Given the description of an element on the screen output the (x, y) to click on. 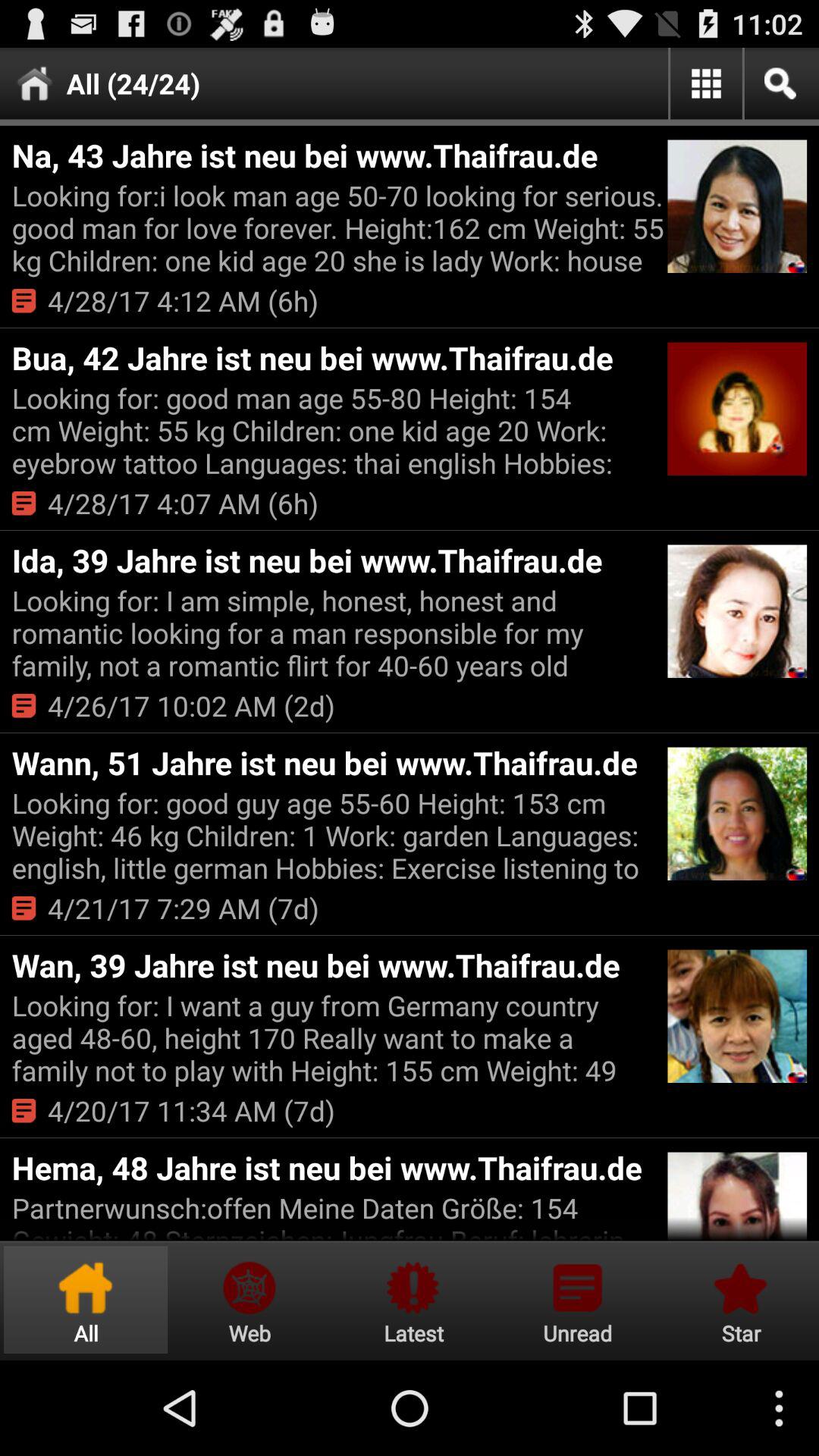
go to latest (413, 1299)
